Given the description of an element on the screen output the (x, y) to click on. 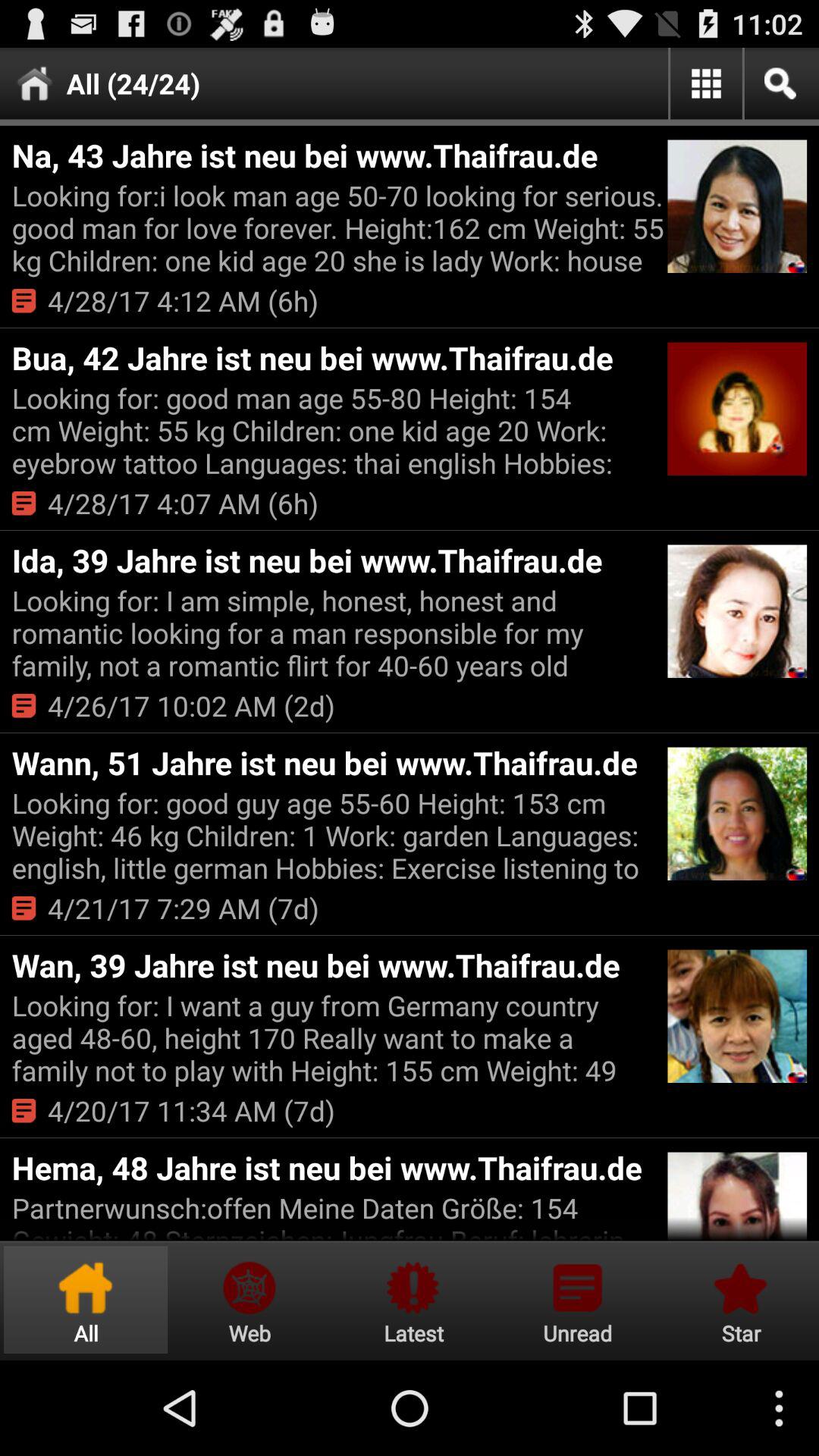
go to latest (413, 1299)
